Given the description of an element on the screen output the (x, y) to click on. 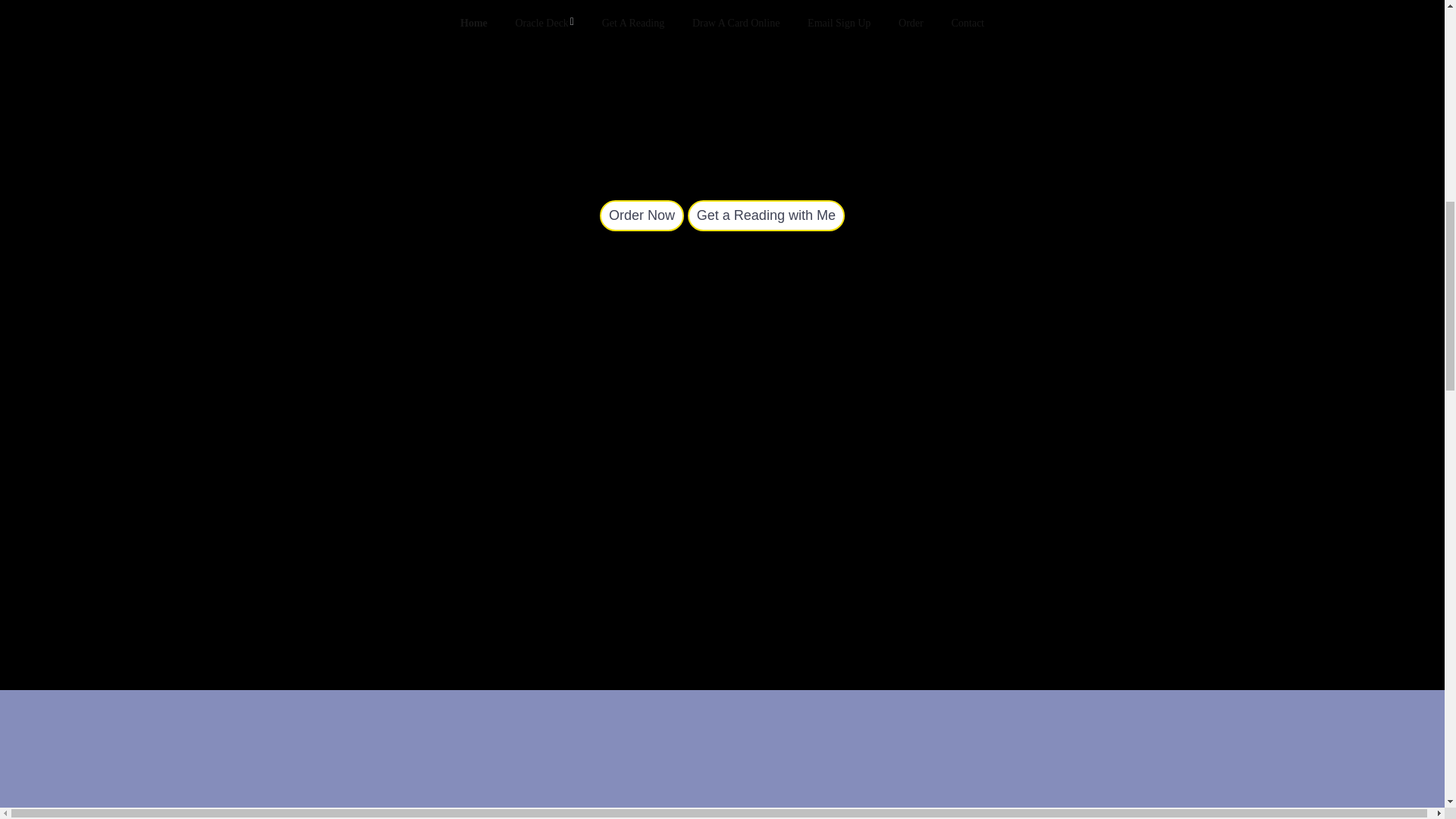
Card Guide (765, 214)
Get a Reading with Me (765, 214)
Card Guide (641, 214)
Order Now (641, 214)
